Given the description of an element on the screen output the (x, y) to click on. 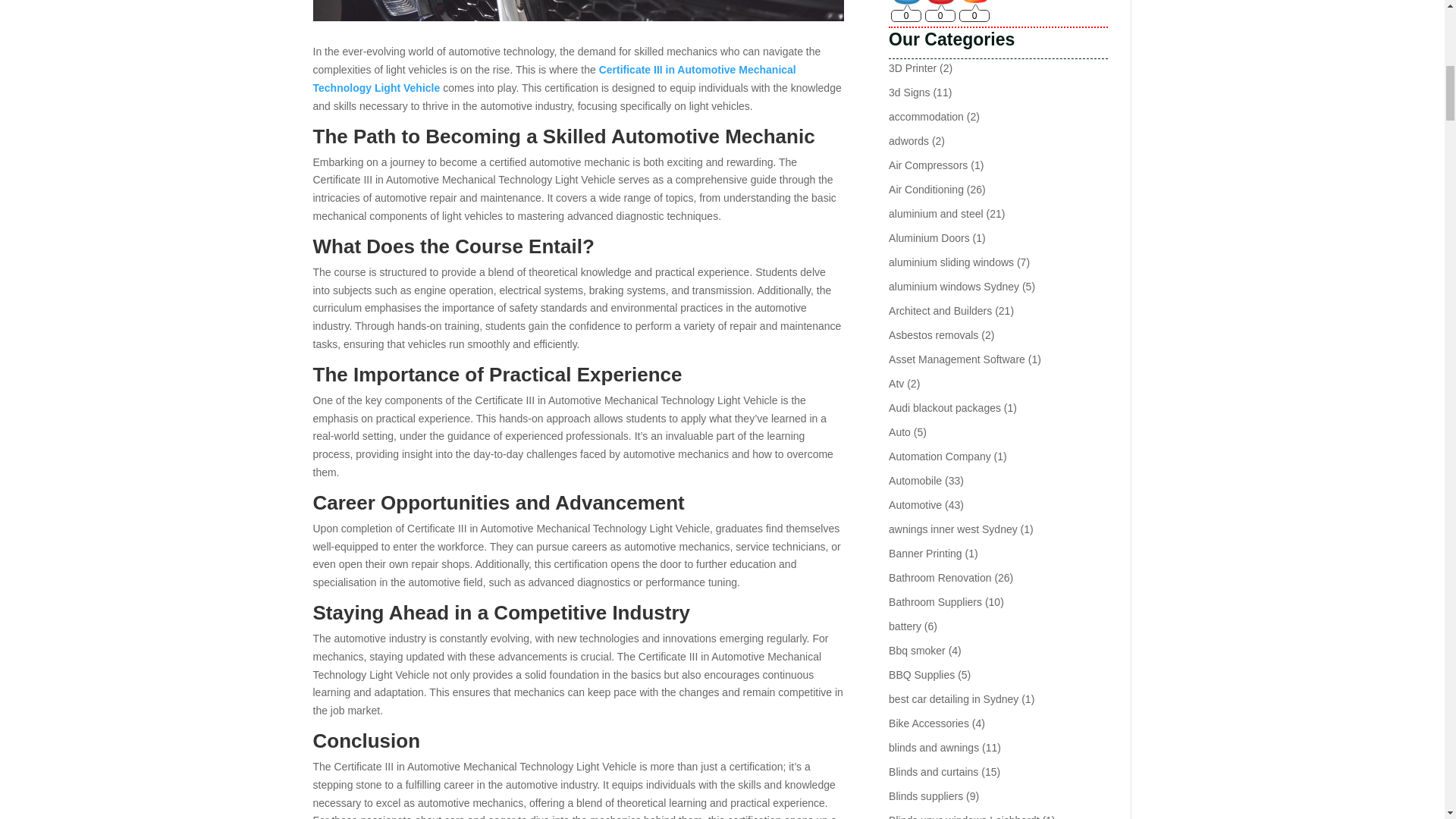
mechanicial (578, 10)
Instagram (974, 1)
Facebook (906, 2)
Pinterest (941, 2)
